Given the description of an element on the screen output the (x, y) to click on. 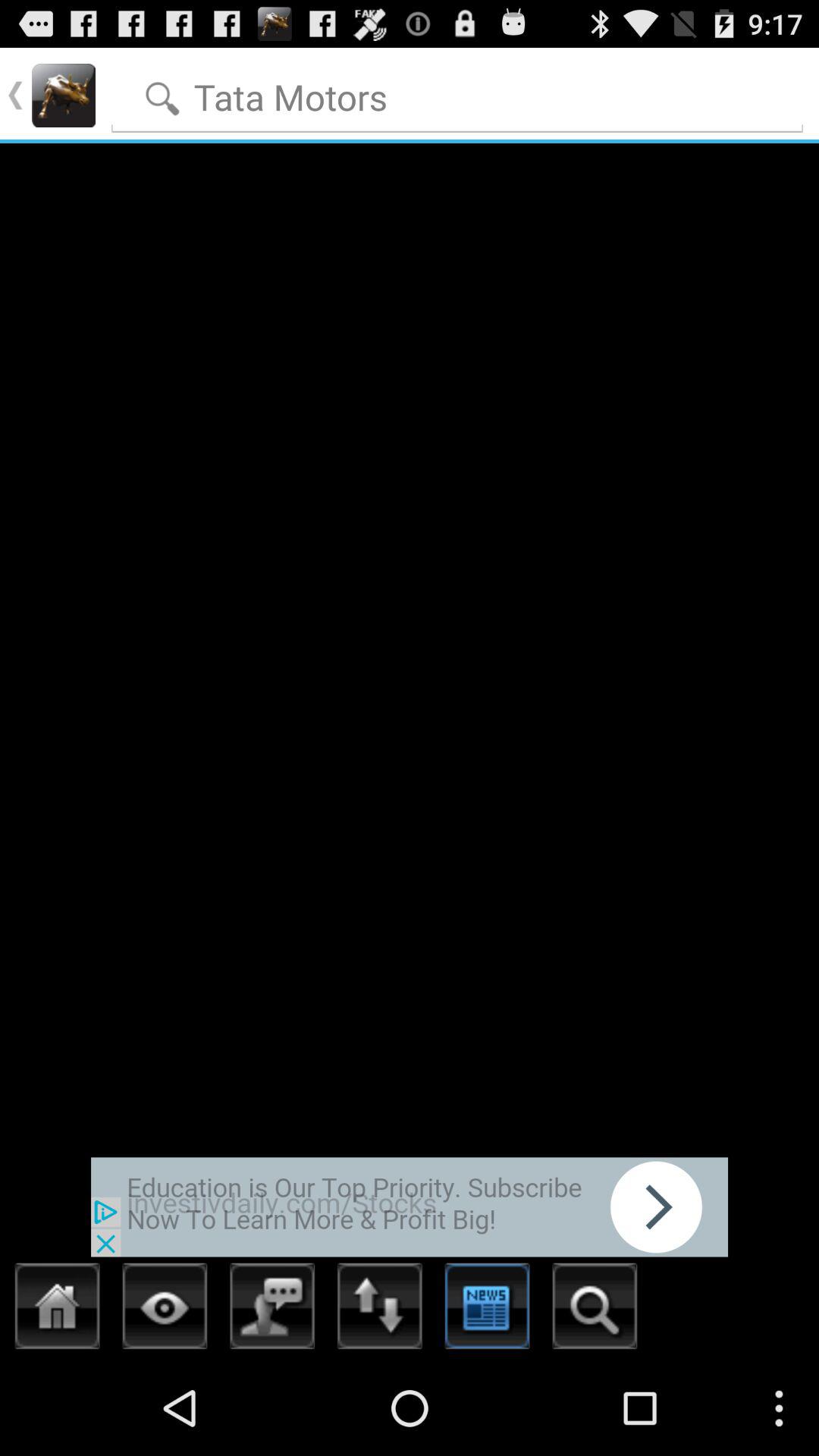
enter words to search (457, 93)
